Given the description of an element on the screen output the (x, y) to click on. 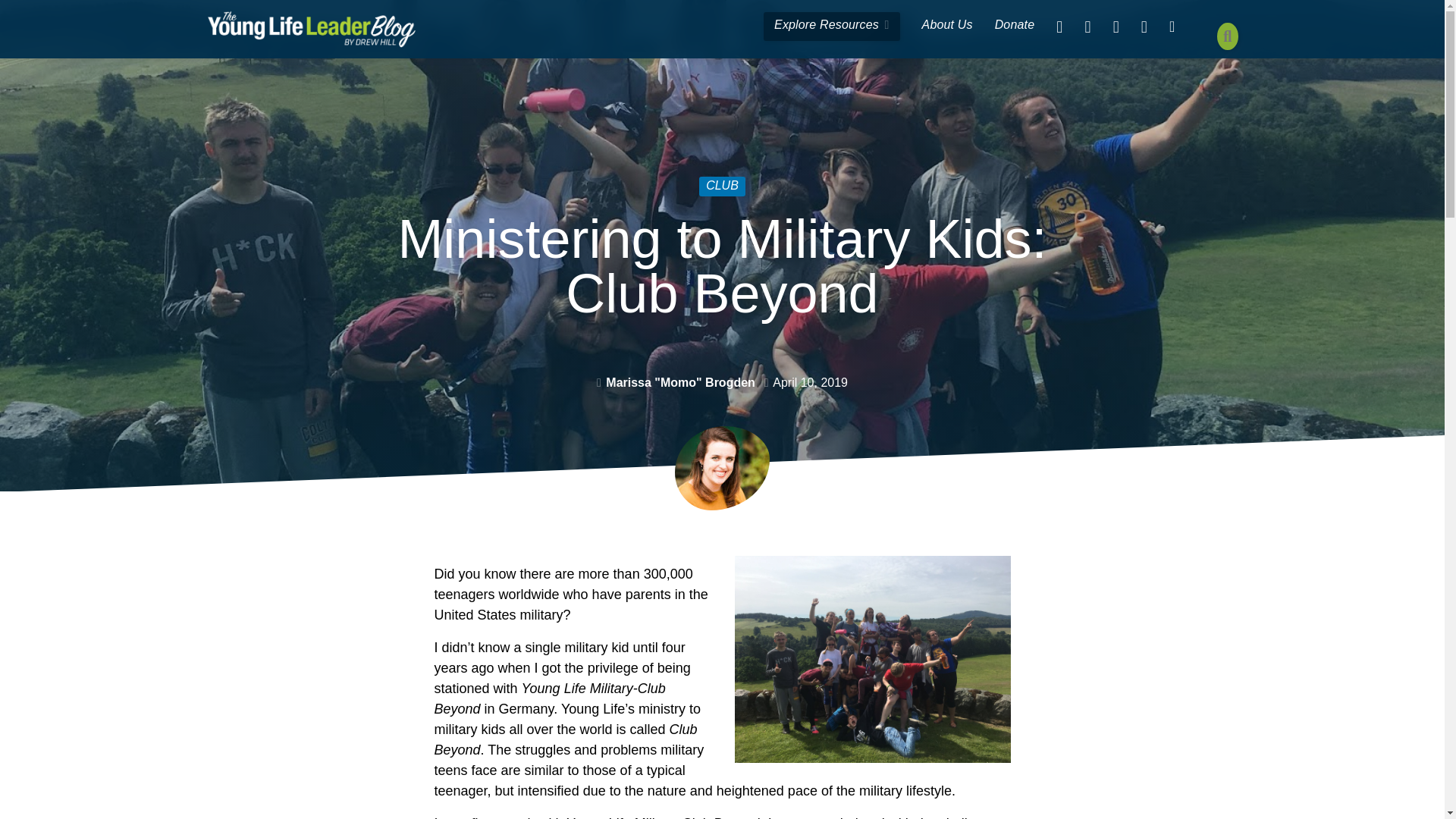
Marissa "Momo" Brogden (680, 382)
Explore Resources (830, 26)
About Us (947, 26)
Donate (1014, 26)
CLUB (721, 186)
Young Life Leader Blog logo (310, 28)
